Given the description of an element on the screen output the (x, y) to click on. 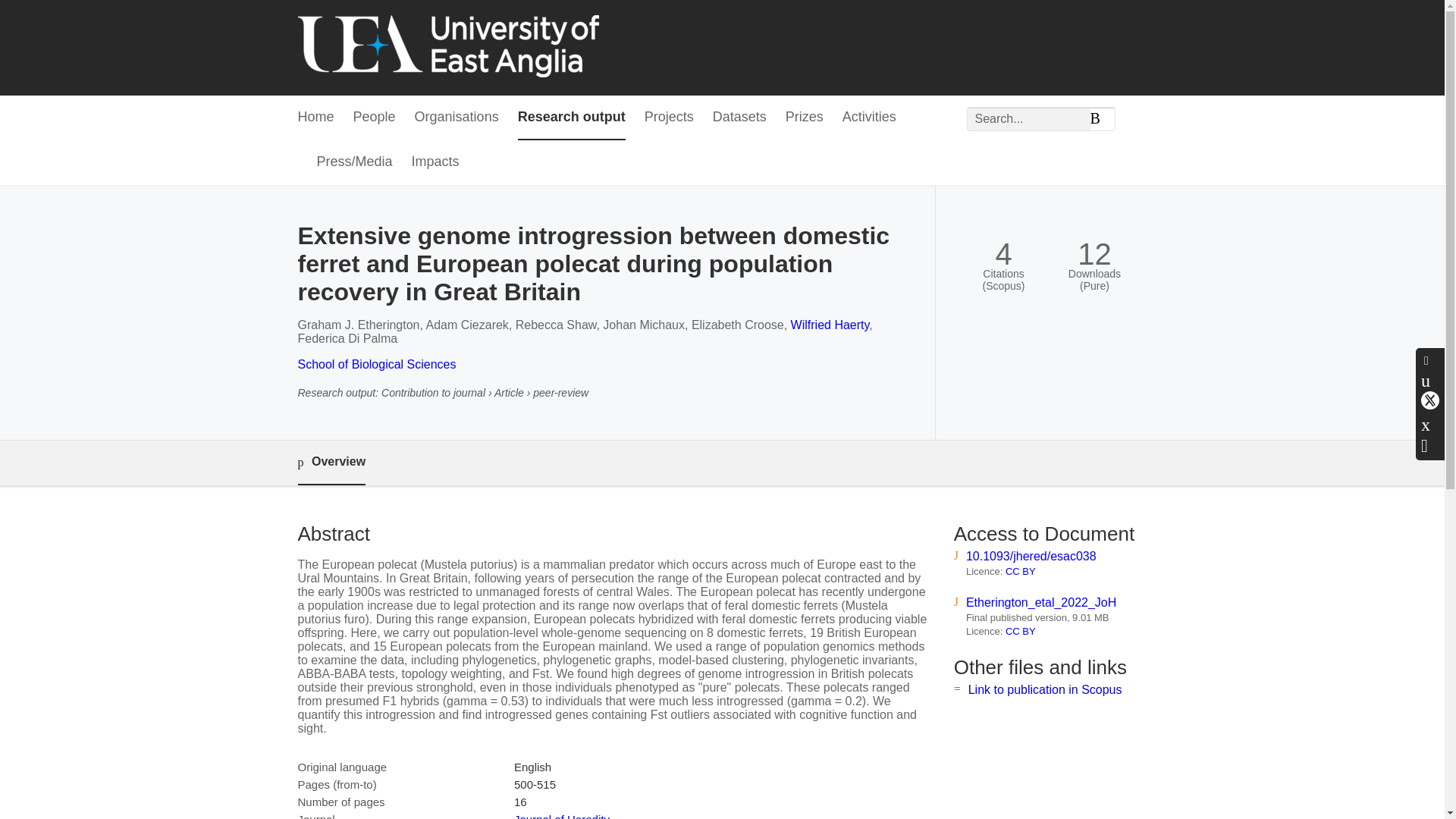
Datasets (740, 117)
University of East Anglia Home (447, 47)
Journal of Heredity (561, 816)
Projects (669, 117)
Impacts (436, 162)
CC BY (1020, 631)
School of Biological Sciences (376, 364)
Research output (572, 117)
People (374, 117)
CC BY (1020, 571)
Activities (869, 117)
Link to publication in Scopus (1045, 689)
Wilfried Haerty (829, 324)
Organisations (456, 117)
